Given the description of an element on the screen output the (x, y) to click on. 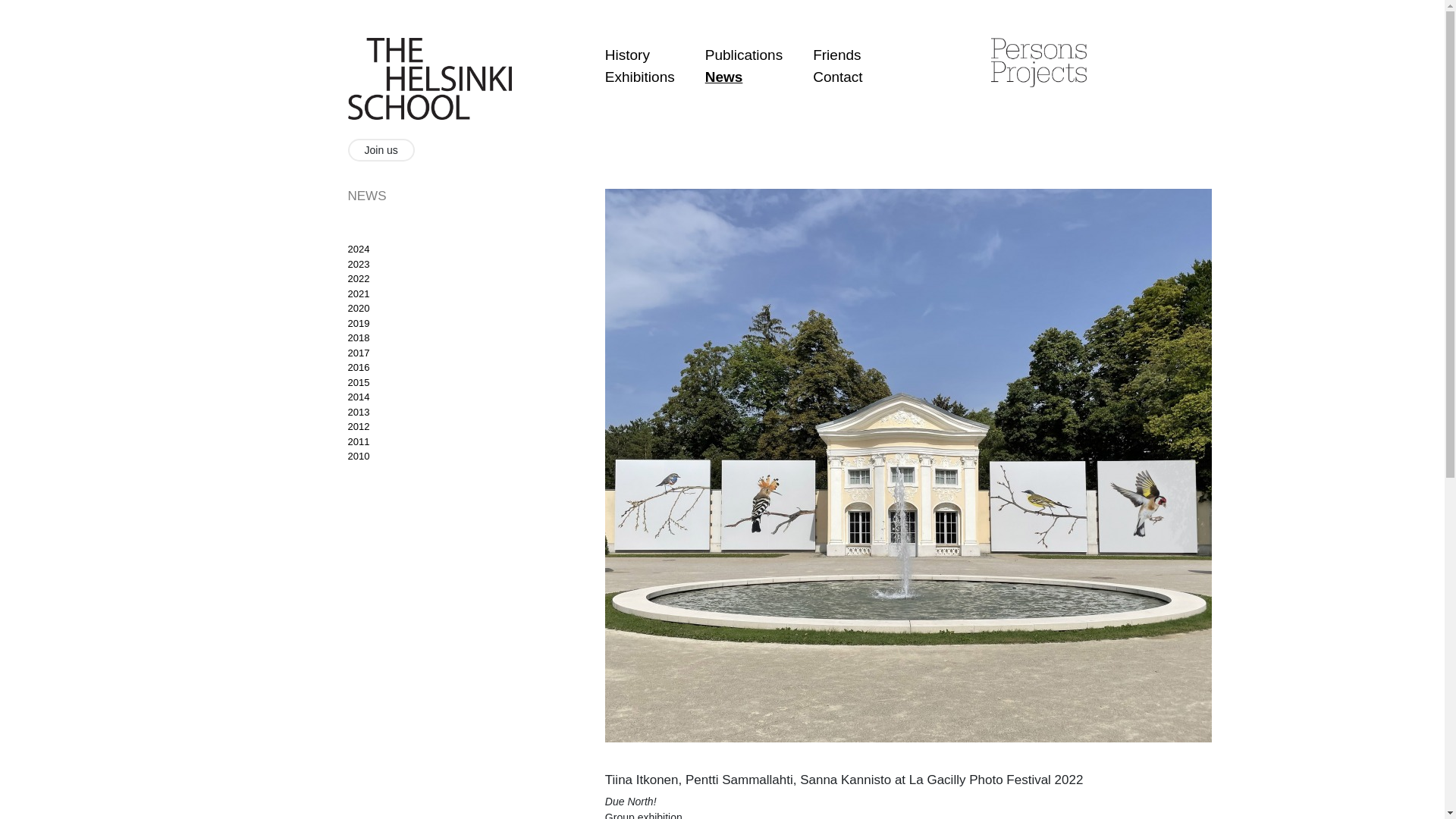
Contact (836, 75)
2023 (358, 264)
News (723, 75)
2019 (358, 323)
2016 (358, 367)
2023 (358, 264)
2012 (358, 426)
2016 (358, 367)
2014 (358, 396)
2021 (358, 293)
